Given the description of an element on the screen output the (x, y) to click on. 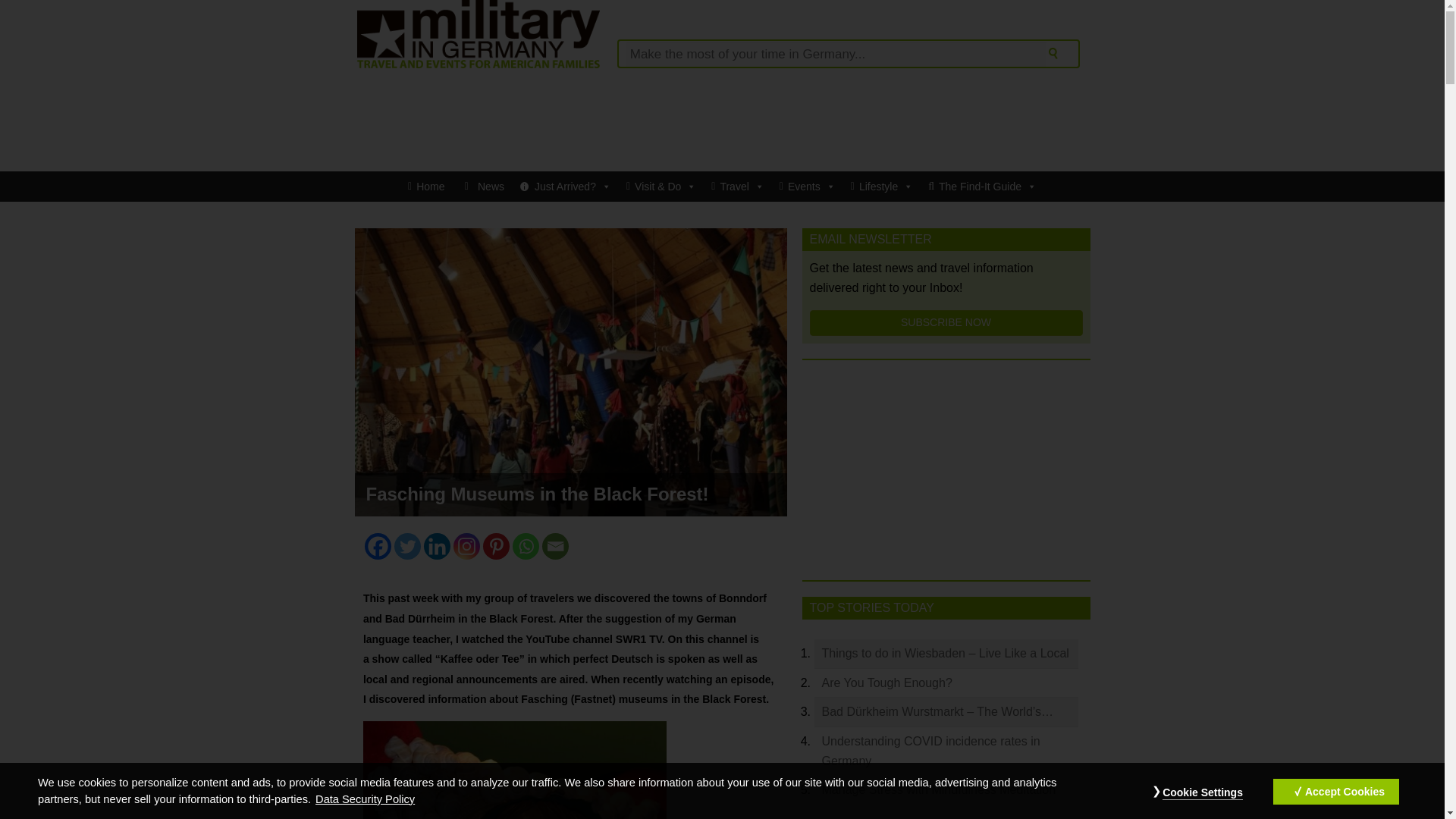
Linkedin (436, 546)
Facebook (378, 546)
Home (425, 186)
Email (555, 546)
3rd party ad content (721, 119)
Pinterest (496, 546)
Instagram (466, 546)
Just Arrived? (565, 186)
Life as a Military Spouse (881, 186)
Twitter (407, 546)
Places to Visit (737, 186)
Whatsapp (525, 546)
Calendar of Forthcoming Events (807, 186)
News (481, 186)
